Given the description of an element on the screen output the (x, y) to click on. 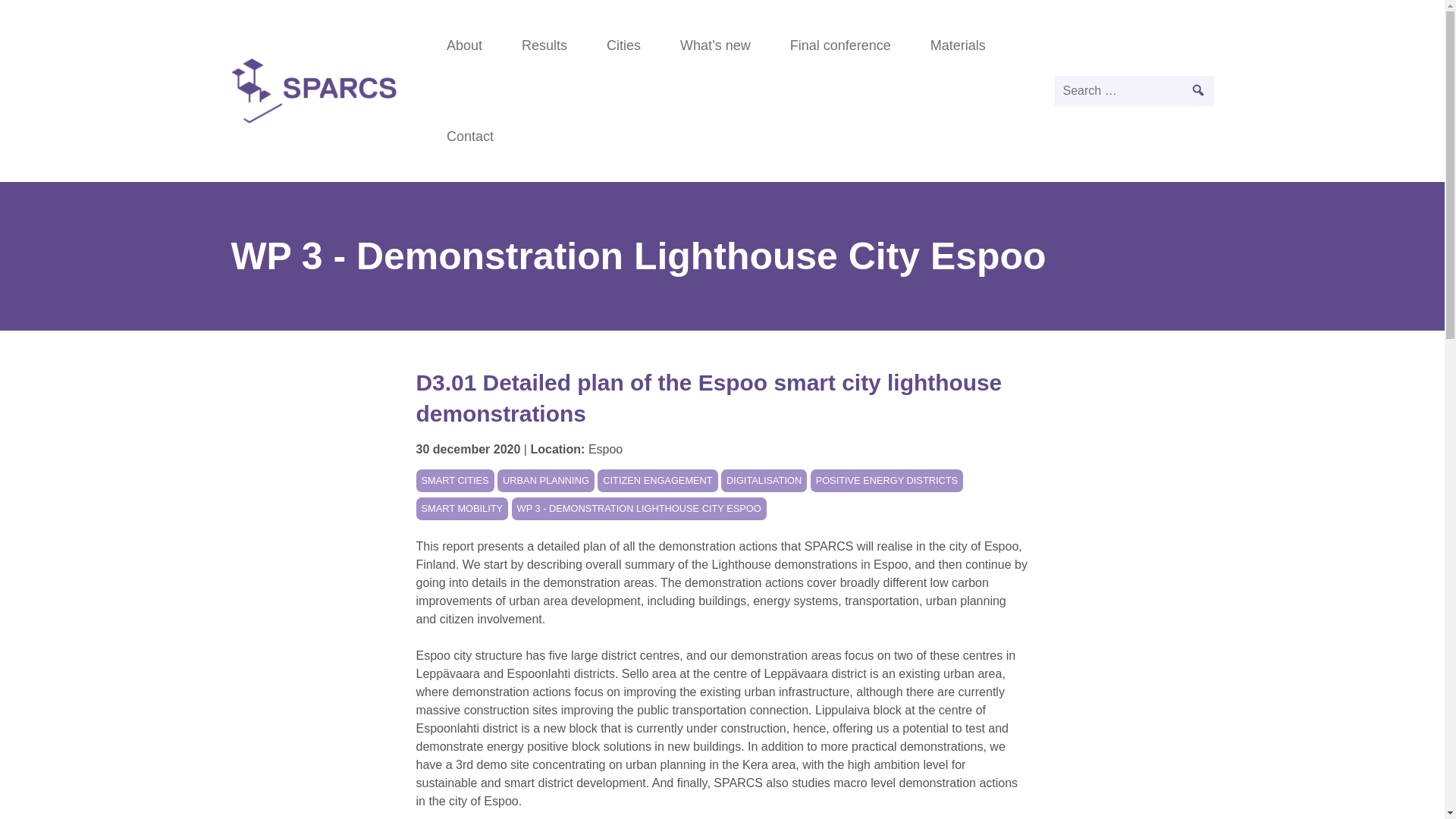
Contact (469, 135)
Final conference (840, 45)
Materials (958, 45)
Results (544, 45)
